Given the description of an element on the screen output the (x, y) to click on. 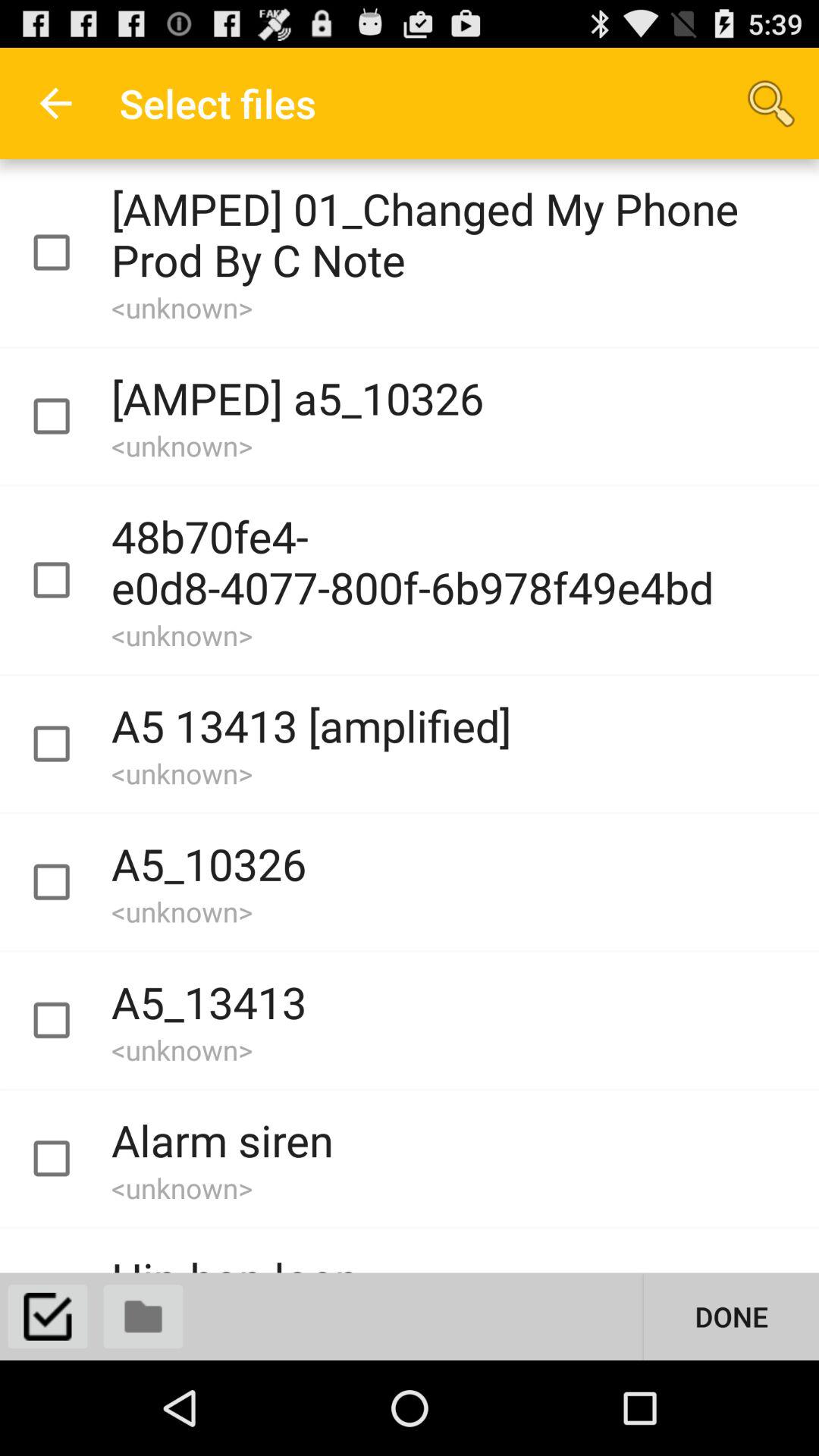
click the item to the right of hip-hop loop item (731, 1316)
